Given the description of an element on the screen output the (x, y) to click on. 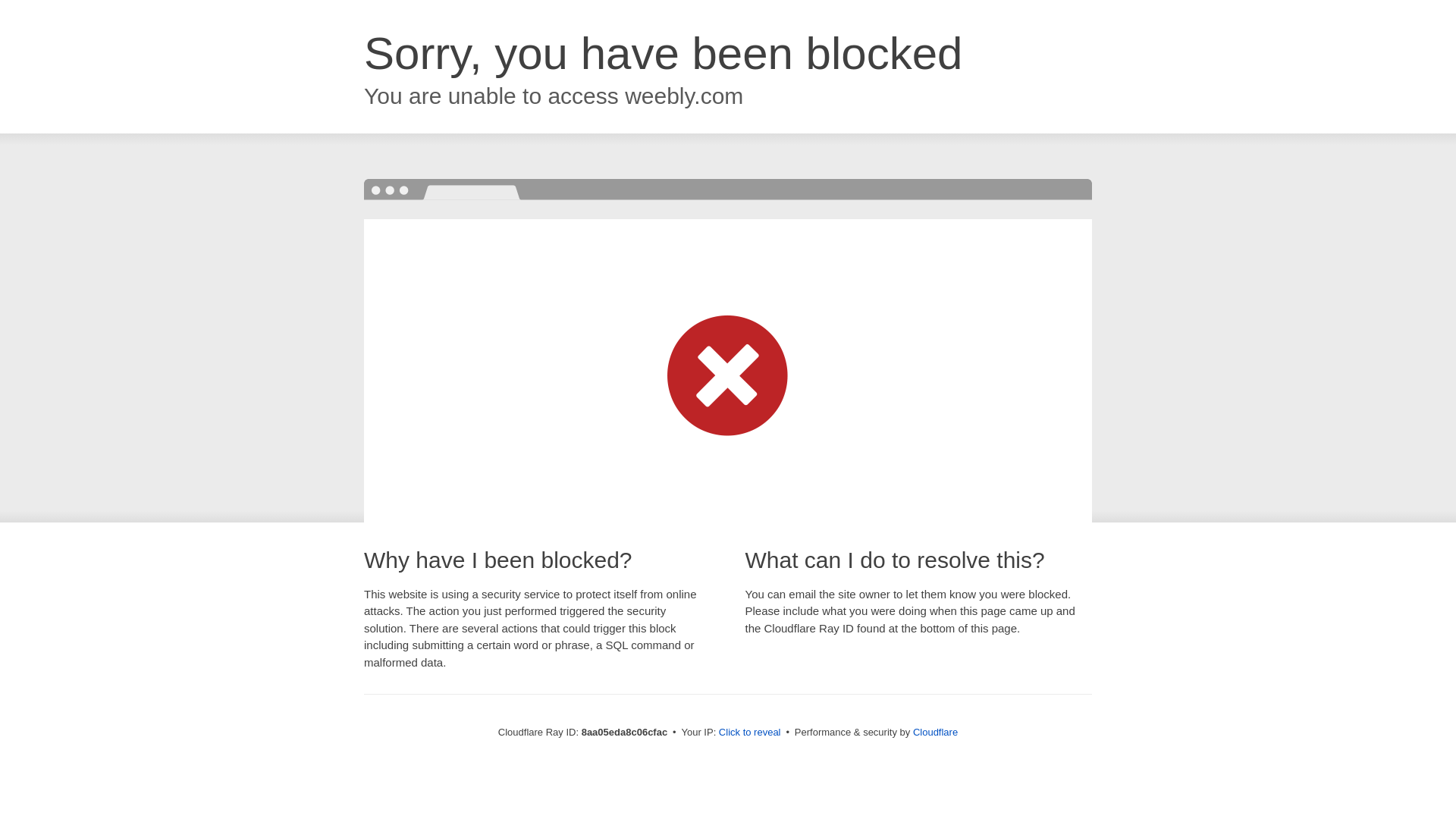
Cloudflare (935, 731)
Click to reveal (749, 732)
